Given the description of an element on the screen output the (x, y) to click on. 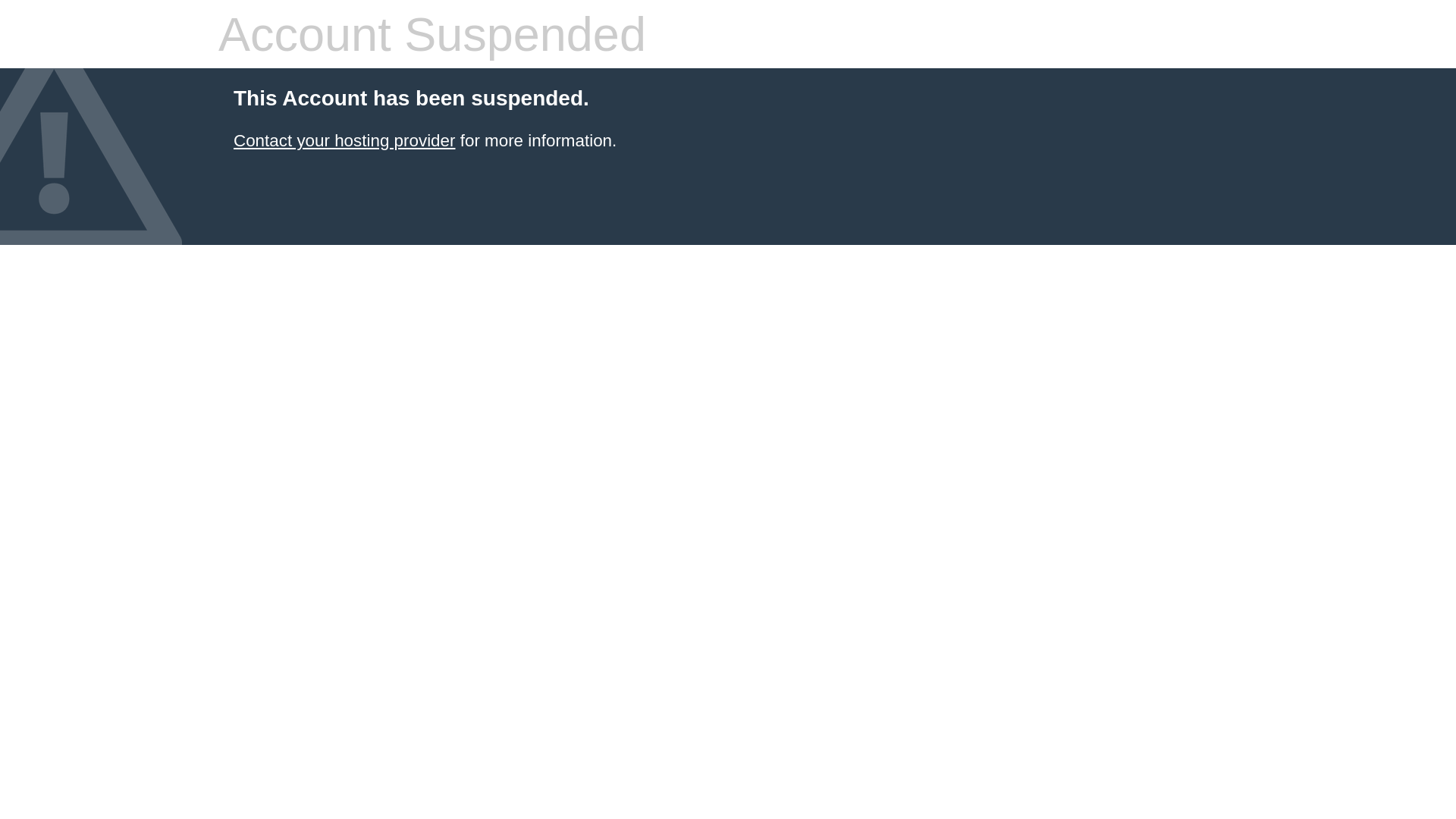
Contact your hosting provider Element type: text (344, 140)
